Given the description of an element on the screen output the (x, y) to click on. 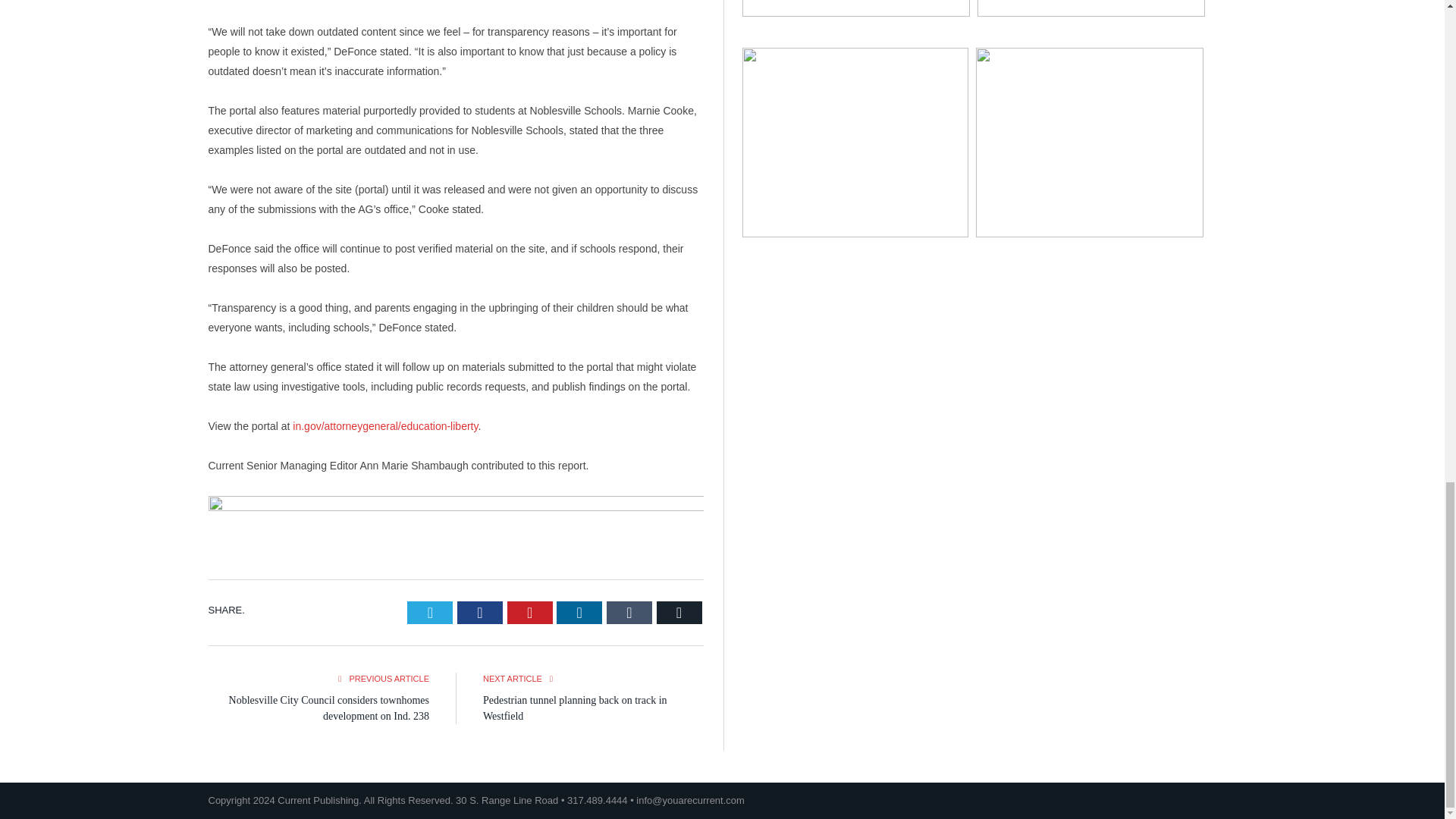
Share on LinkedIn (579, 612)
Tweet It (429, 612)
Share on Tumblr (629, 612)
Share on Pinterest (529, 612)
Share via Email (678, 612)
Share on Facebook (479, 612)
